Given the description of an element on the screen output the (x, y) to click on. 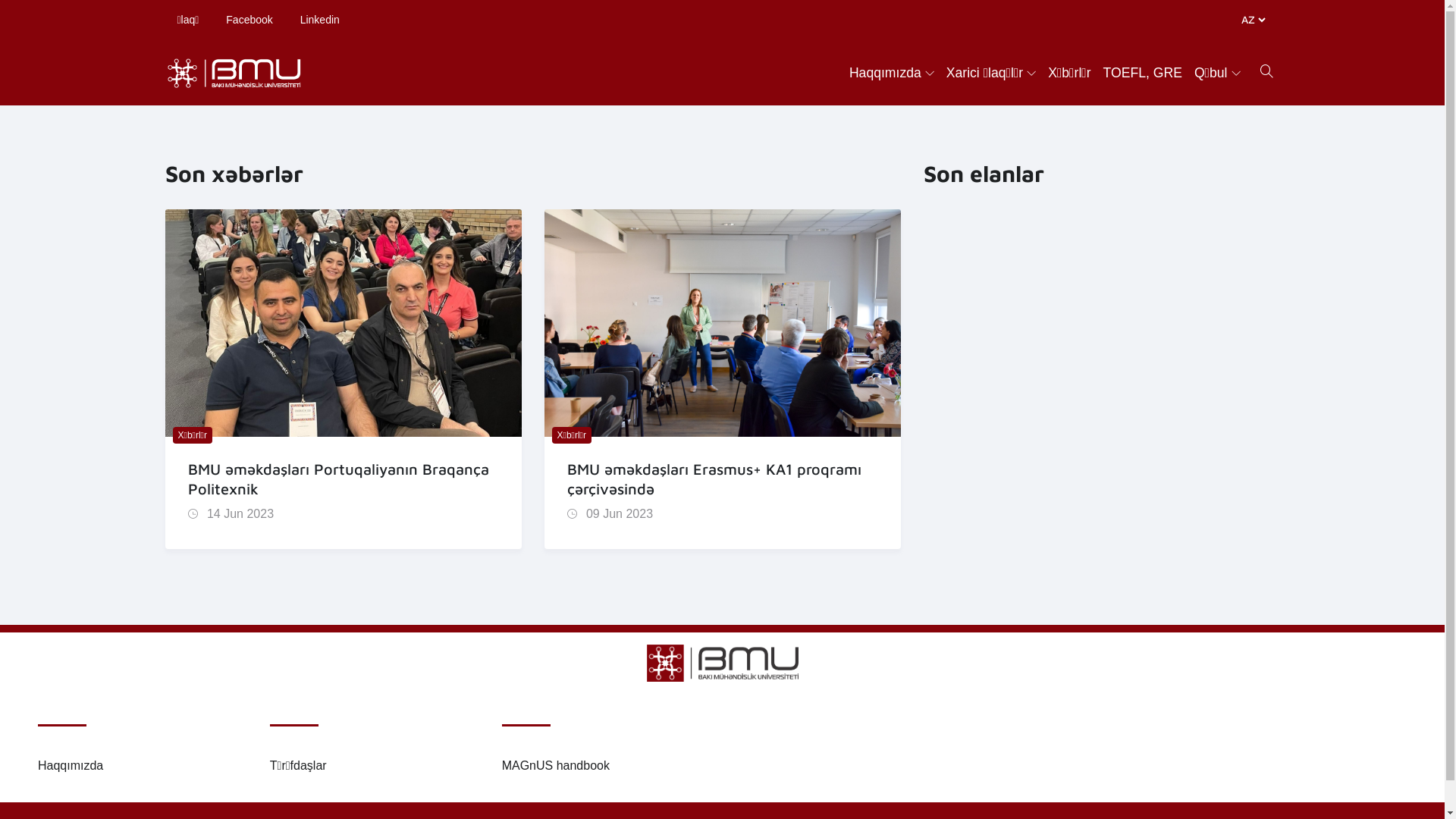
Linkedin Element type: text (319, 19)
MAGnUS handbook Element type: text (555, 765)
Facebook Element type: text (248, 19)
TOEFL, GRE Element type: text (1142, 72)
